Given the description of an element on the screen output the (x, y) to click on. 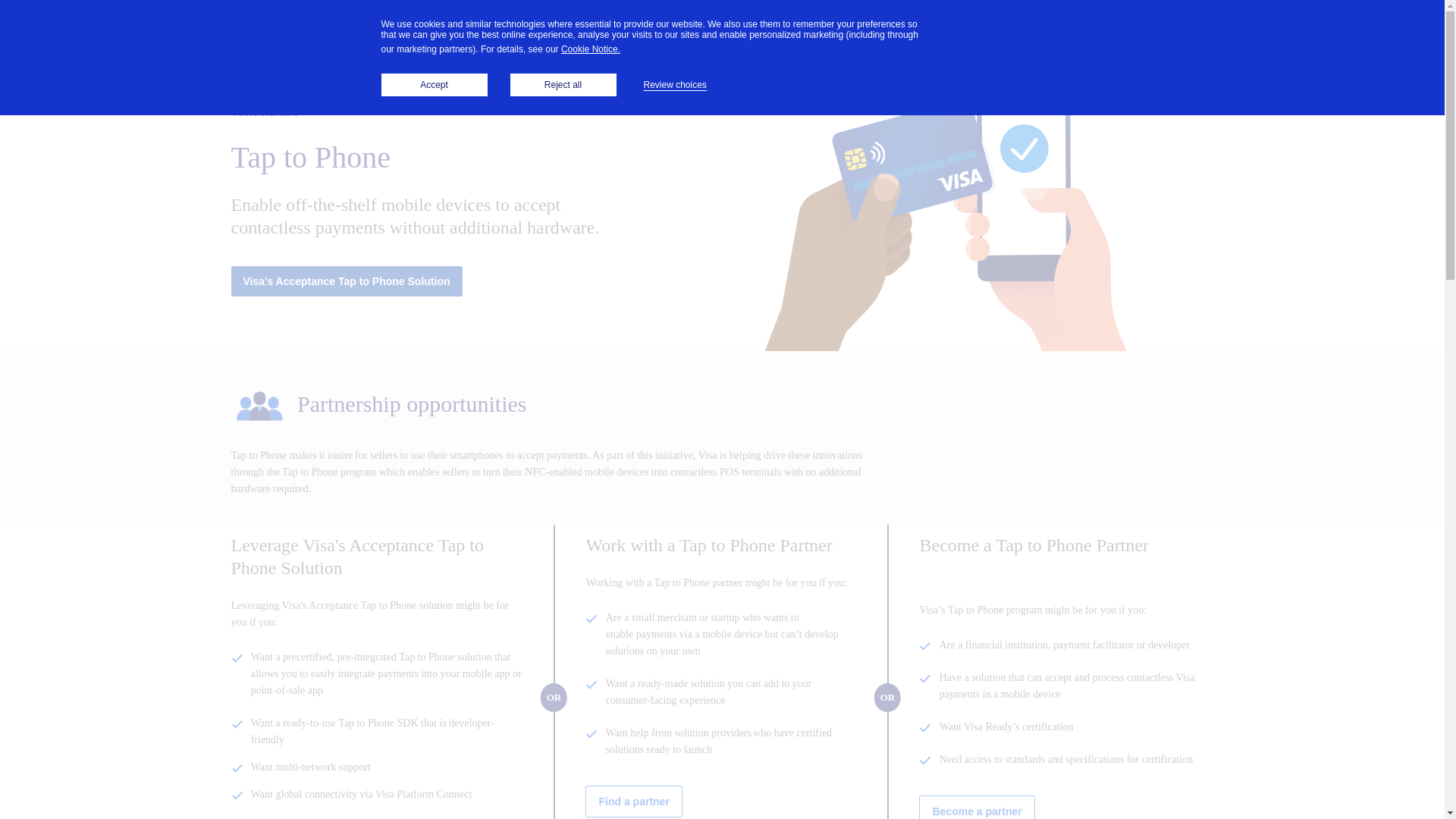
Programs (912, 24)
Find a partner (633, 801)
Explore (782, 24)
Learn (845, 24)
Visa's Acceptance Tap to Phone Solution (345, 281)
Build (1040, 24)
Get Started (1112, 25)
Sign In (1189, 24)
Partners (984, 24)
Become a partner (975, 807)
